Given the description of an element on the screen output the (x, y) to click on. 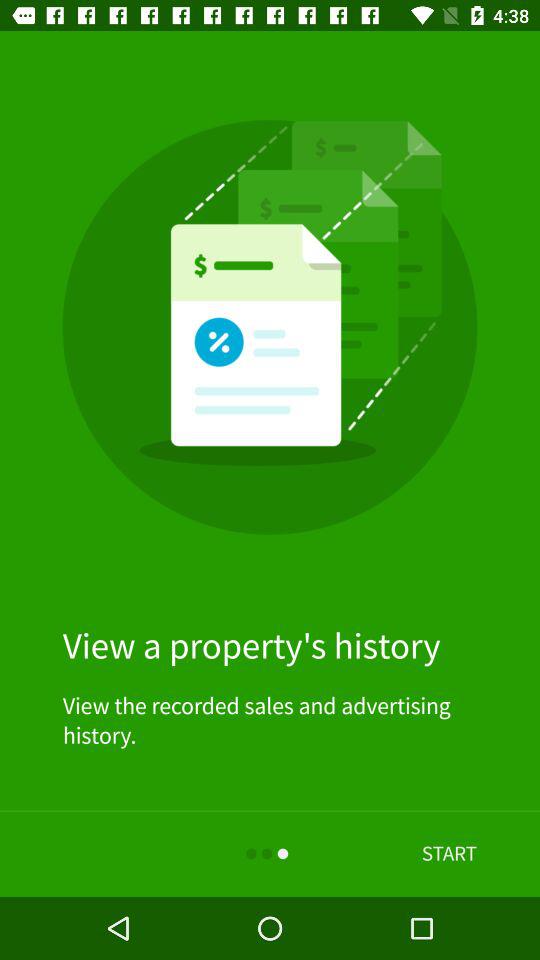
launch the start at the bottom right corner (449, 853)
